Given the description of an element on the screen output the (x, y) to click on. 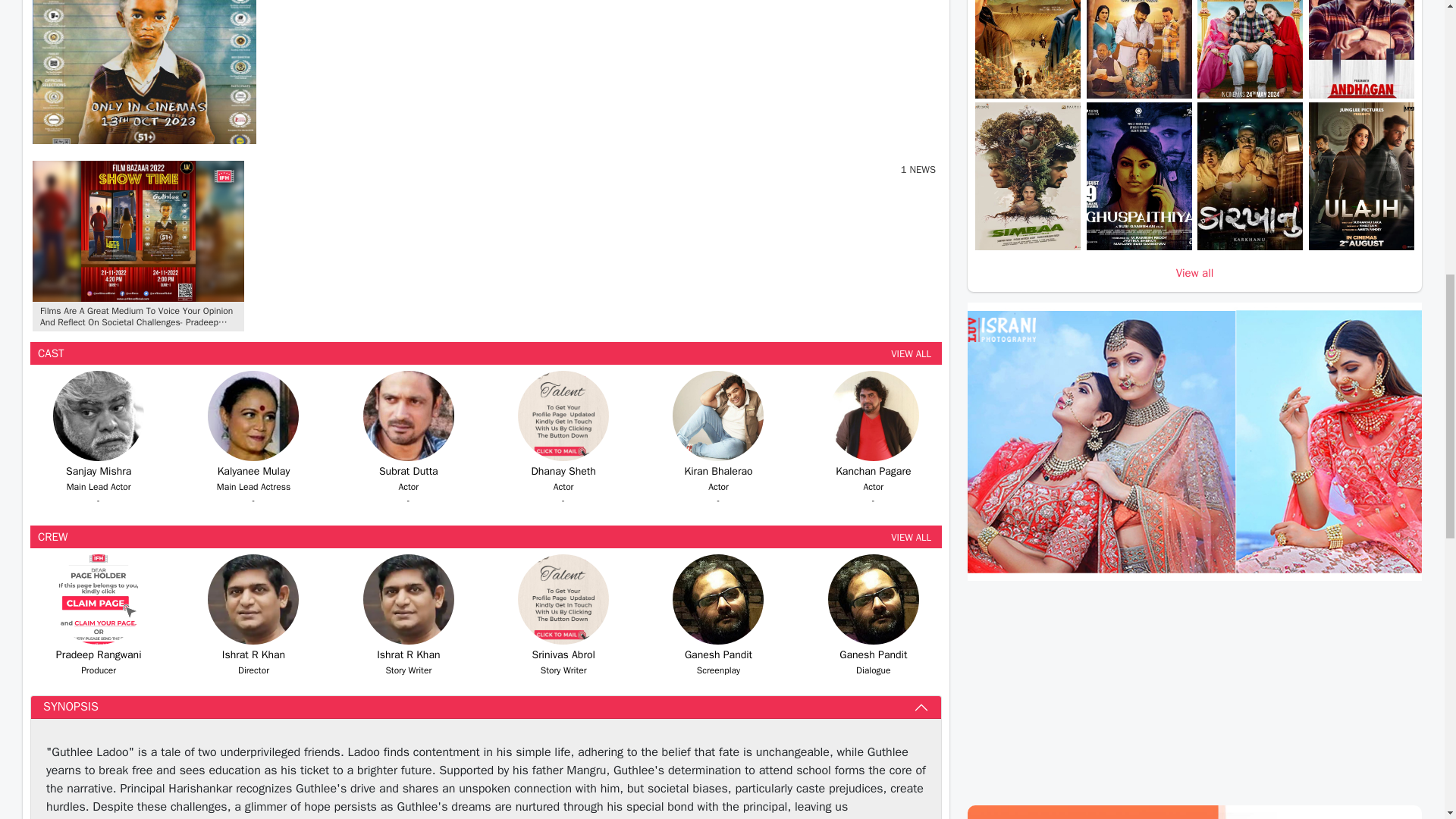
Kalyanee Mulay (253, 416)
Kiran Bhalerao (717, 416)
Pradeep Rangwani (98, 599)
Kanchan Pagare (873, 416)
Indian Film History (138, 231)
Ishrat R Khan (253, 599)
Guthlee Ladoo (144, 72)
Sanjay Mishra (98, 416)
Subrat Dutta (408, 416)
